Given the description of an element on the screen output the (x, y) to click on. 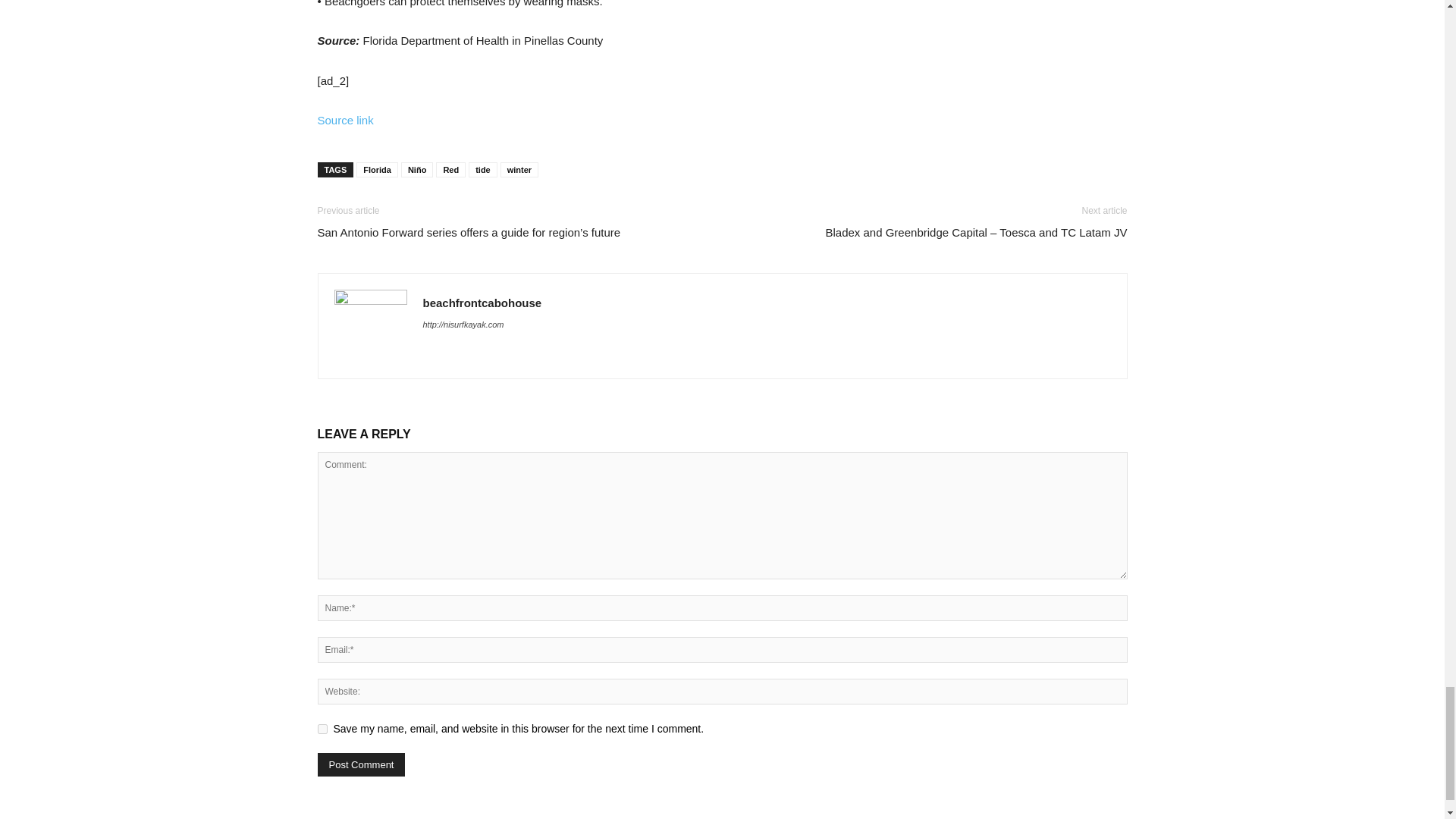
Florida (376, 169)
tide (482, 169)
Post Comment (360, 764)
Source link (344, 119)
yes (321, 728)
Red (450, 169)
beachfrontcabohouse (482, 302)
winter (519, 169)
